Given the description of an element on the screen output the (x, y) to click on. 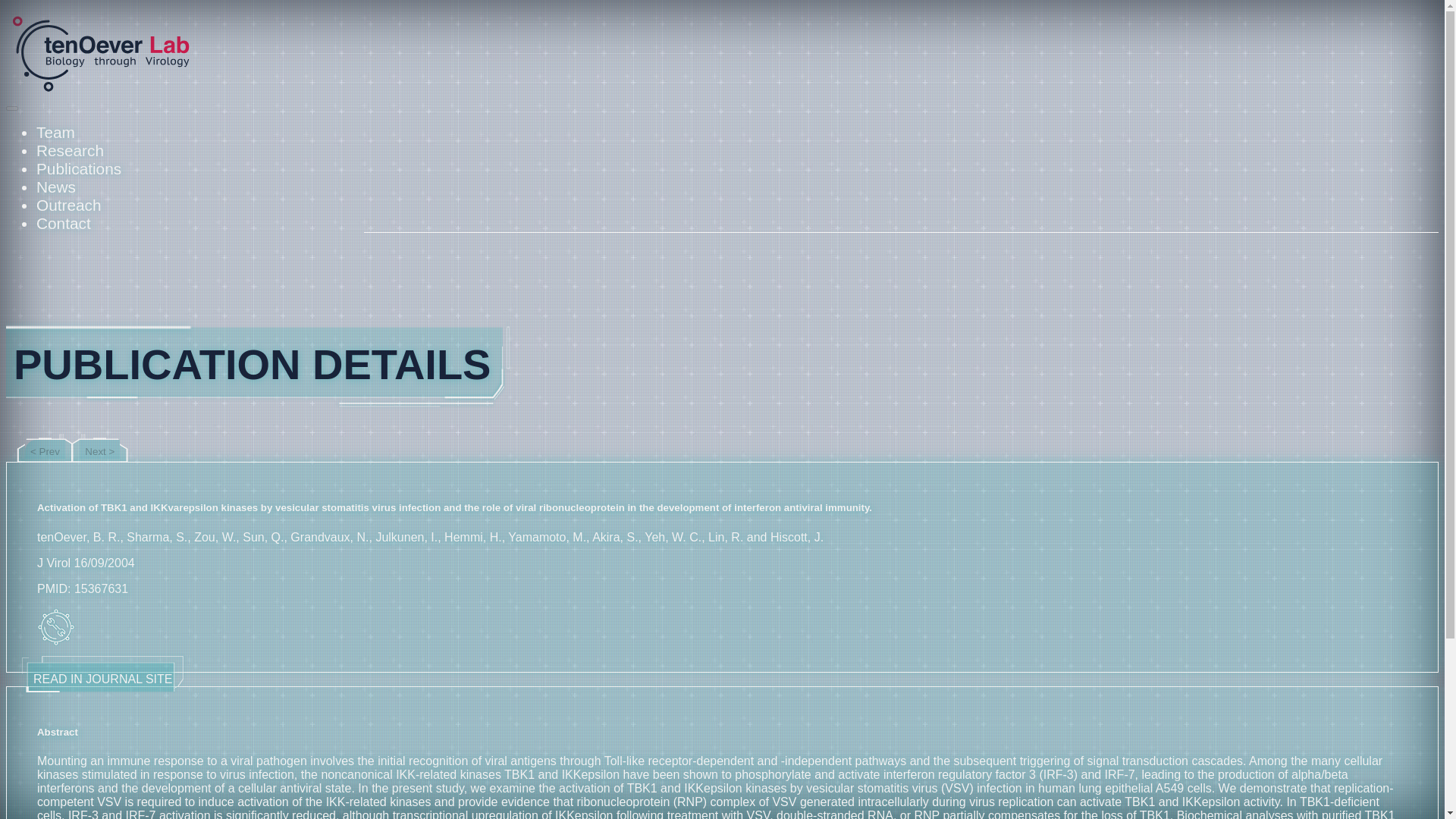
Contact (63, 222)
Outreach (68, 204)
Publications (78, 168)
READ IN JOURNAL SITE (102, 676)
News (55, 186)
Research (69, 149)
Team (55, 131)
